Given the description of an element on the screen output the (x, y) to click on. 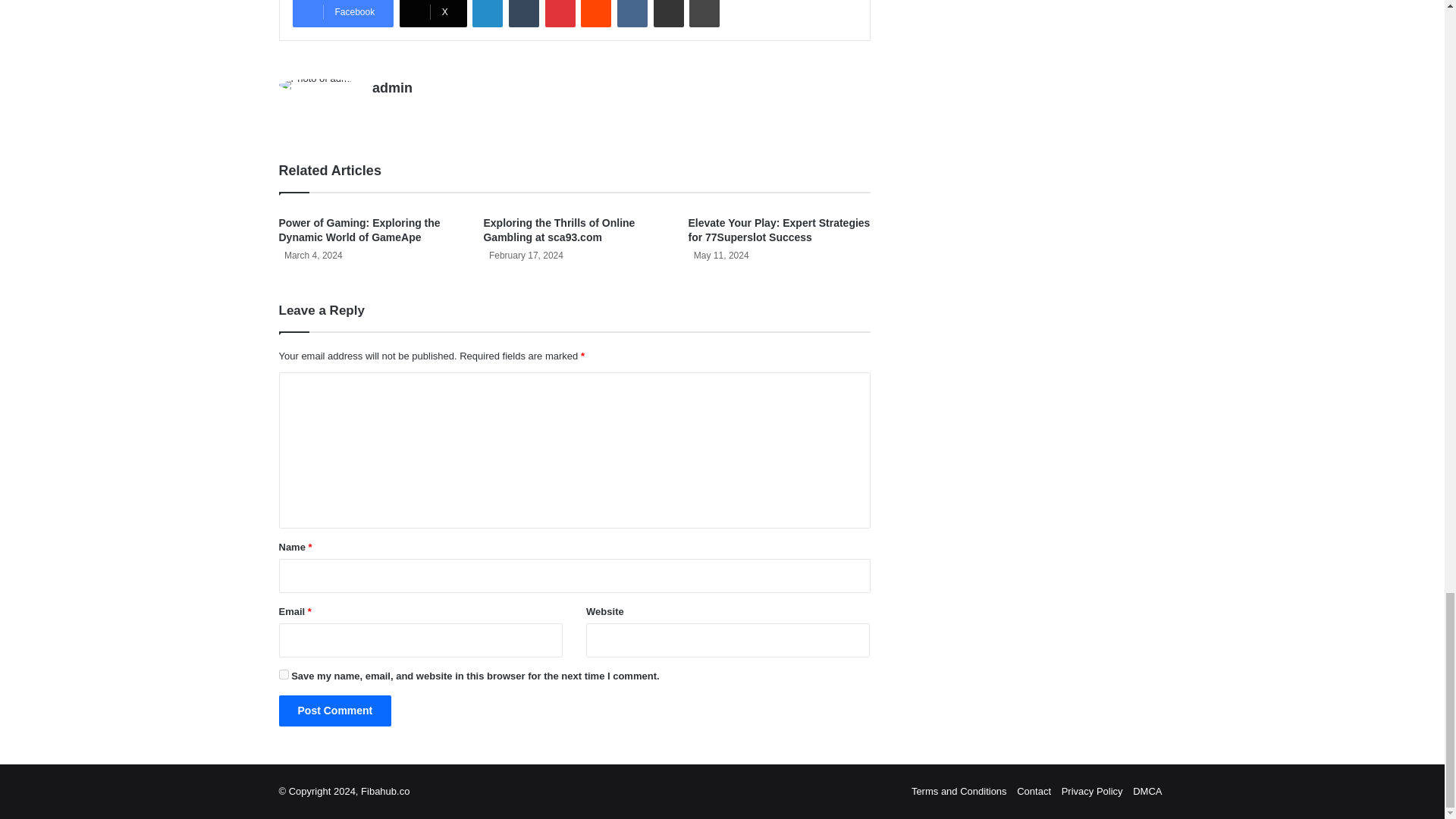
Reddit (595, 13)
Pinterest (559, 13)
LinkedIn (486, 13)
X (432, 13)
Share via Email (668, 13)
Share via Email (668, 13)
yes (283, 674)
VKontakte (632, 13)
Exploring the Thrills of Online Gambling at sca93.com (558, 230)
Post Comment (335, 710)
